Given the description of an element on the screen output the (x, y) to click on. 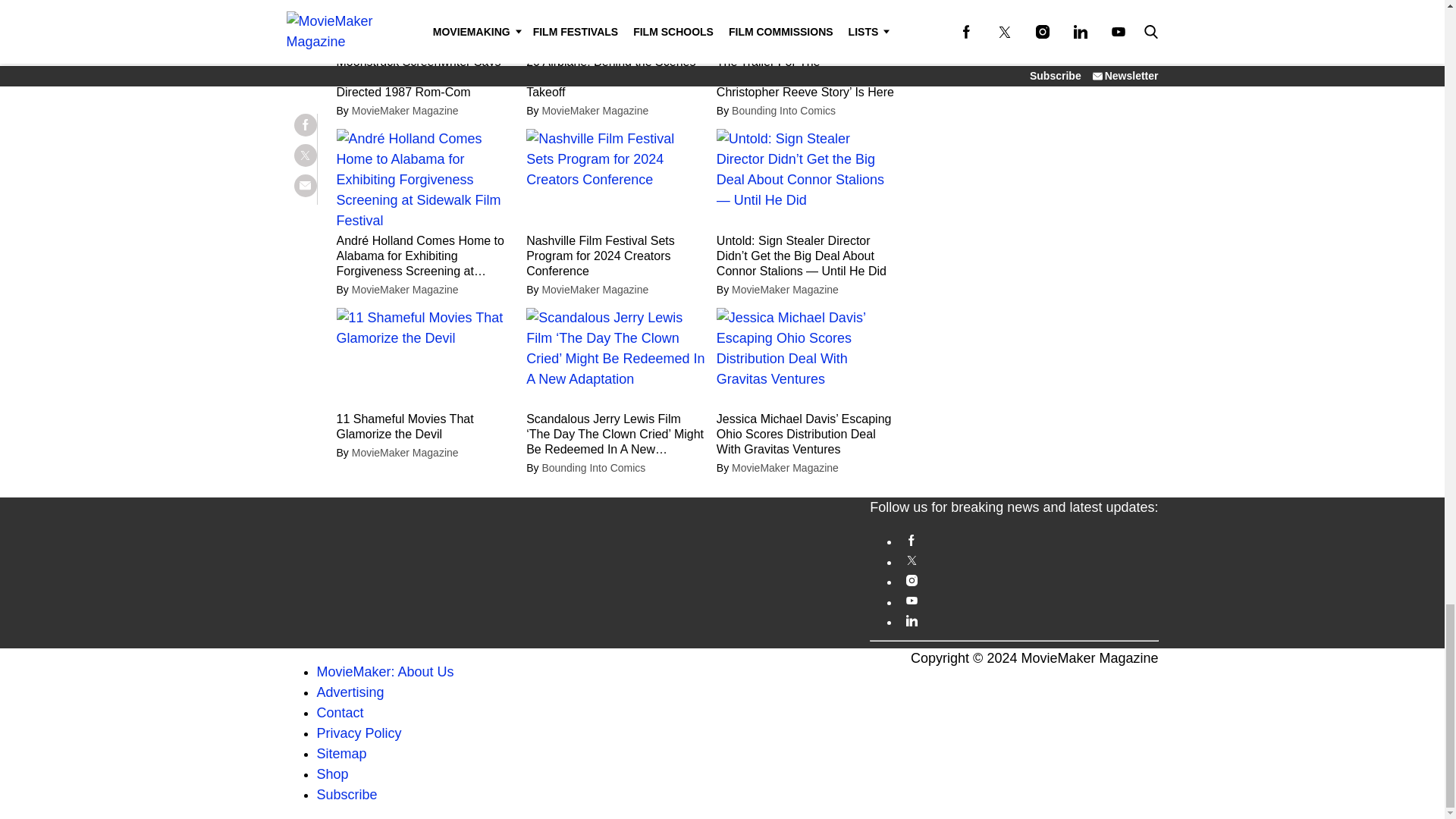
Follow us on Instagram (1028, 580)
Connect with us on LinkedIn (1028, 620)
Follow us on Facebook (1028, 540)
Subscribe to our YouTube channel (1028, 600)
Follow us on Twitter (1028, 560)
MovieMaker Magazine Shop (333, 774)
Contact MovieMaker Magazine (340, 712)
Advertising (350, 692)
MovieMaker Magazine Privacy Policy (359, 733)
MovieMaker: About Us (385, 671)
